Given the description of an element on the screen output the (x, y) to click on. 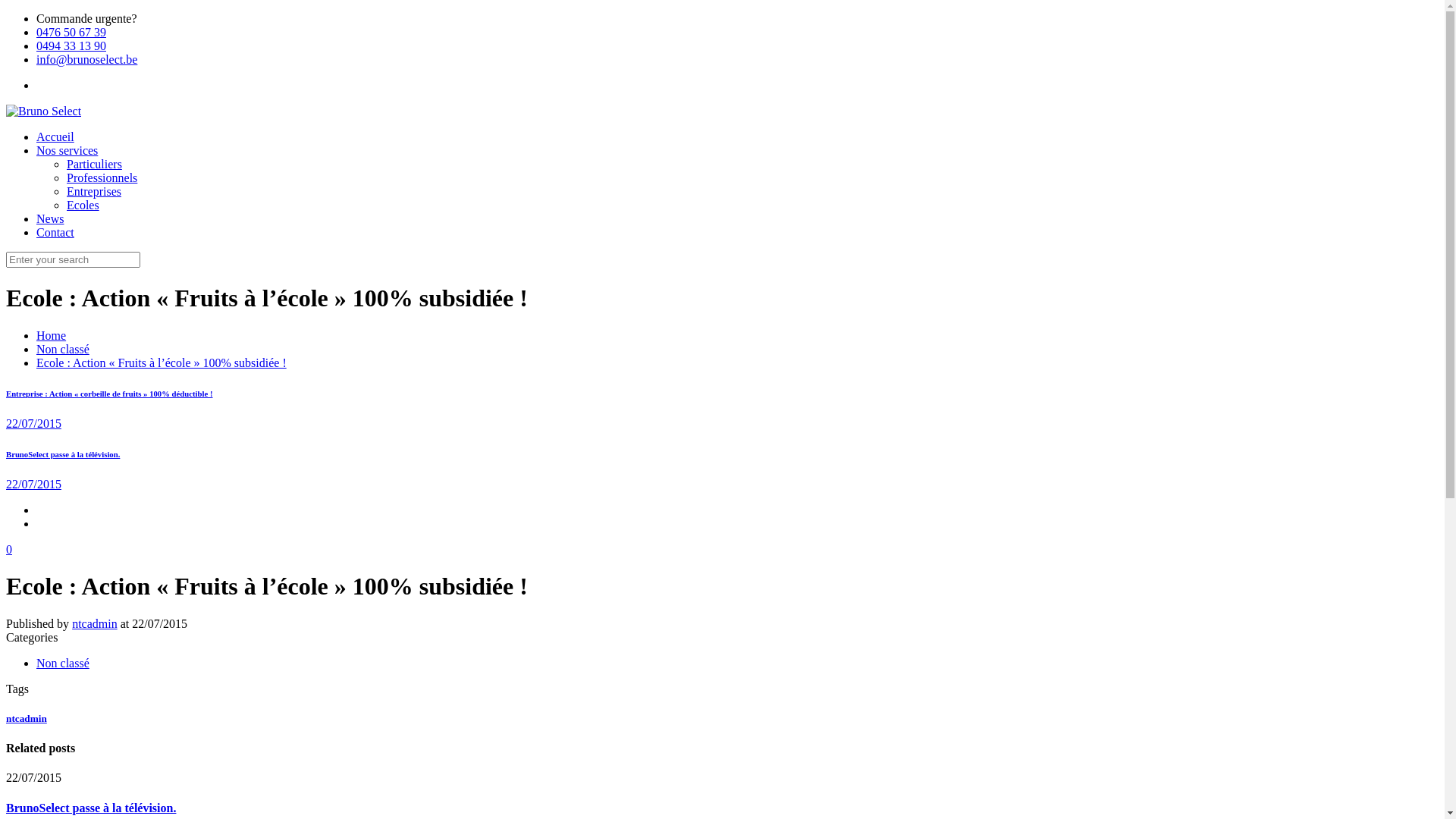
0494 33 13 90 Element type: text (71, 45)
ntcadmin Element type: text (26, 718)
Particuliers Element type: text (94, 163)
Professionnels Element type: text (101, 177)
0476 50 67 39 Element type: text (71, 31)
Entreprises Element type: text (93, 191)
Nos services Element type: text (66, 150)
Home Element type: text (50, 335)
0 Element type: text (9, 548)
Ecoles Element type: text (82, 204)
News Element type: text (49, 218)
Contact Element type: text (55, 231)
Bruno Select Element type: hover (43, 110)
info@brunoselect.be Element type: text (86, 59)
ntcadmin Element type: text (94, 623)
Accueil Element type: text (55, 136)
